Given the description of an element on the screen output the (x, y) to click on. 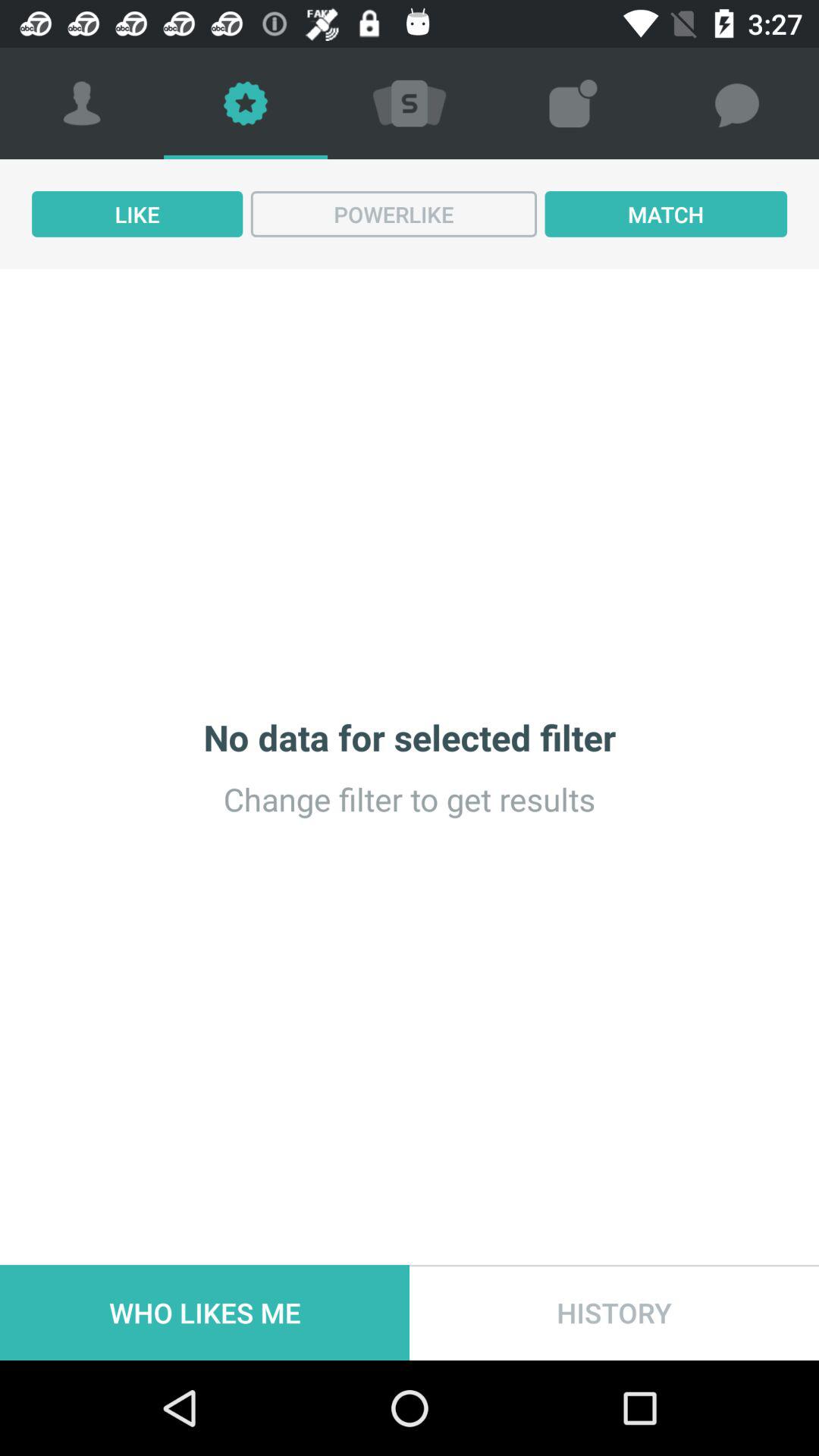
select icon at the bottom right corner (614, 1312)
